Given the description of an element on the screen output the (x, y) to click on. 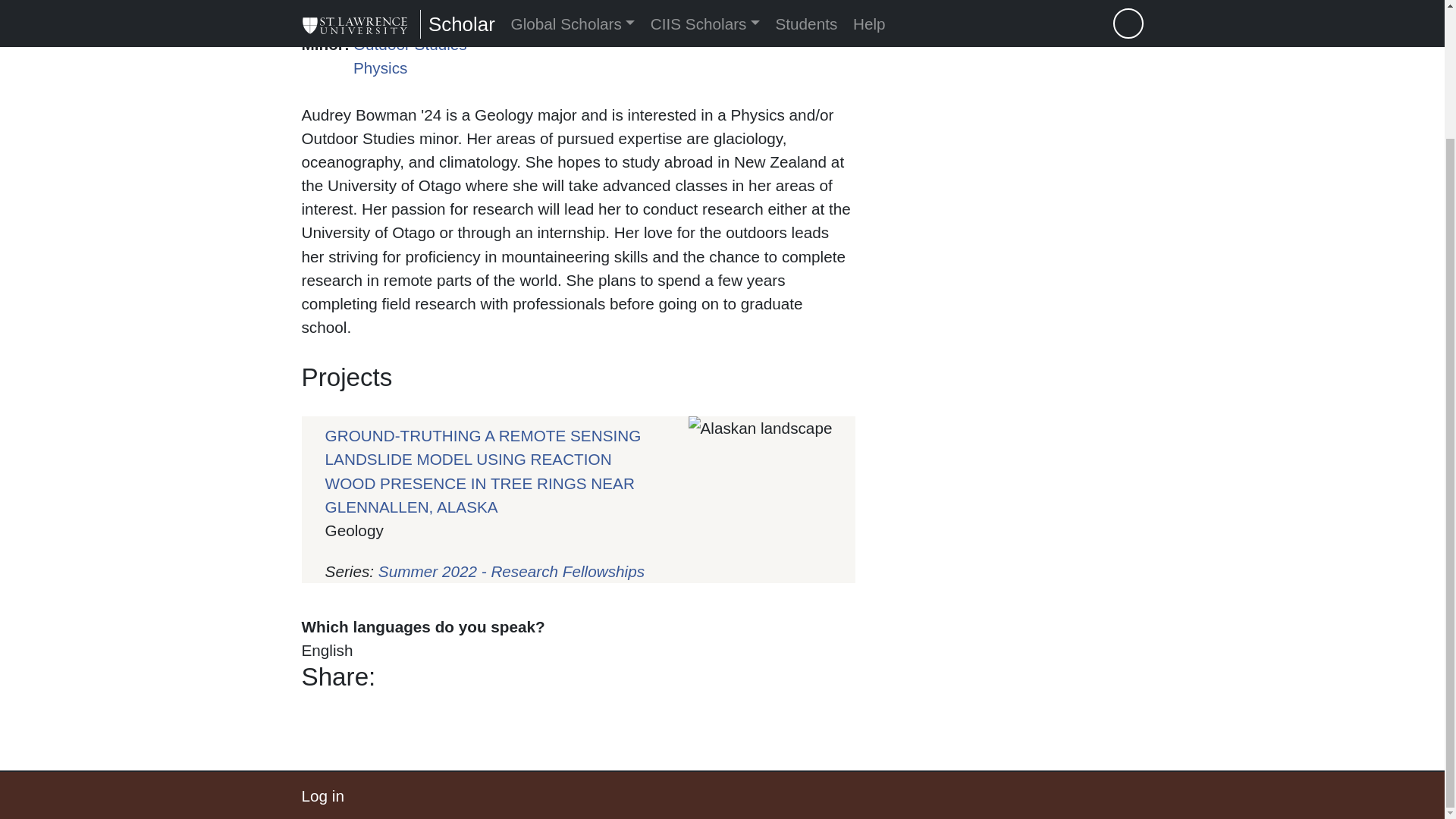
Class of 2024 (438, 2)
Outdoor Studies (410, 44)
Geology (381, 20)
Log in (322, 794)
Summer 2022 - Research Fellowships (511, 570)
Physics (380, 67)
